Given the description of an element on the screen output the (x, y) to click on. 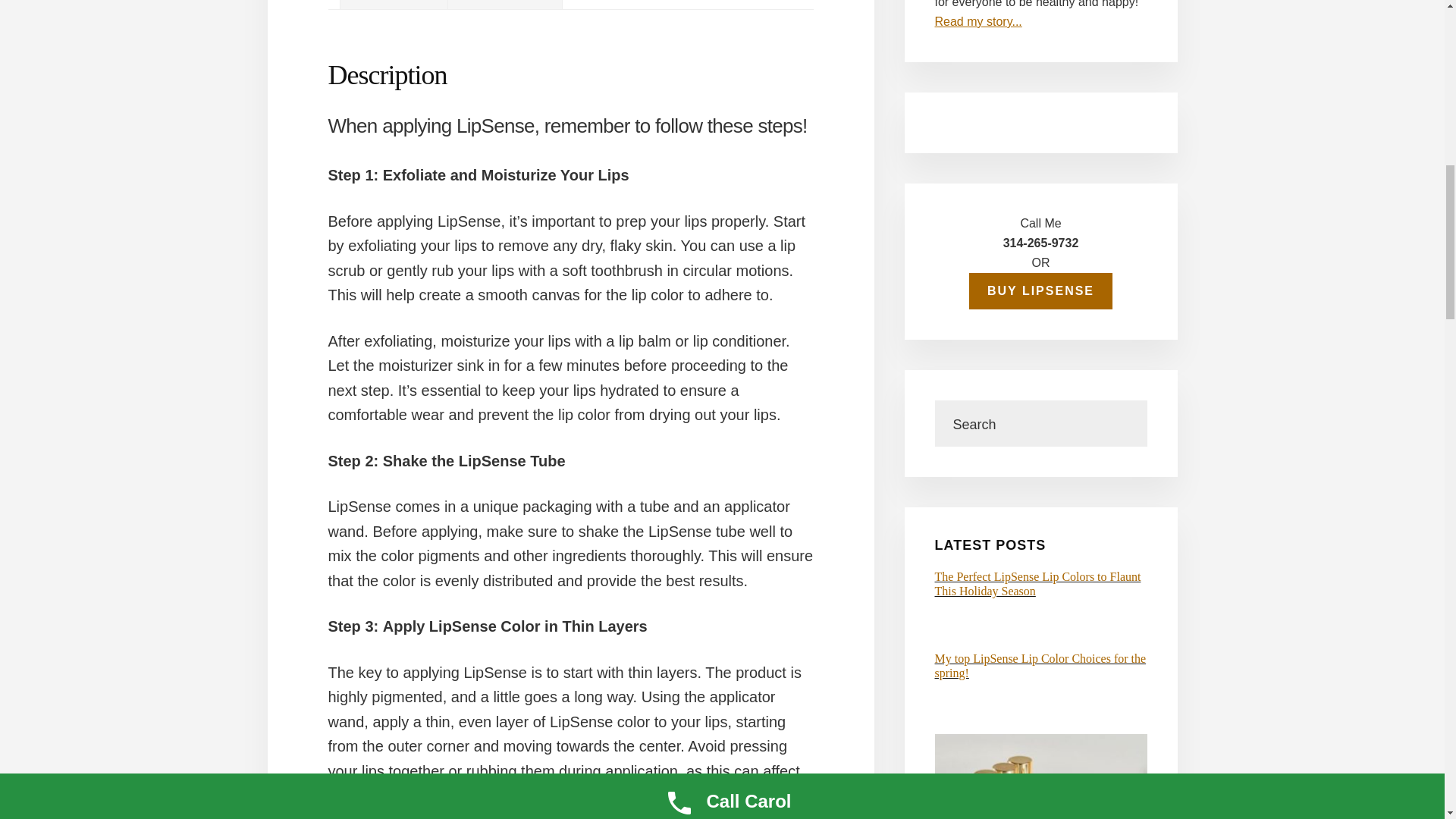
Description (395, 4)
